Given the description of an element on the screen output the (x, y) to click on. 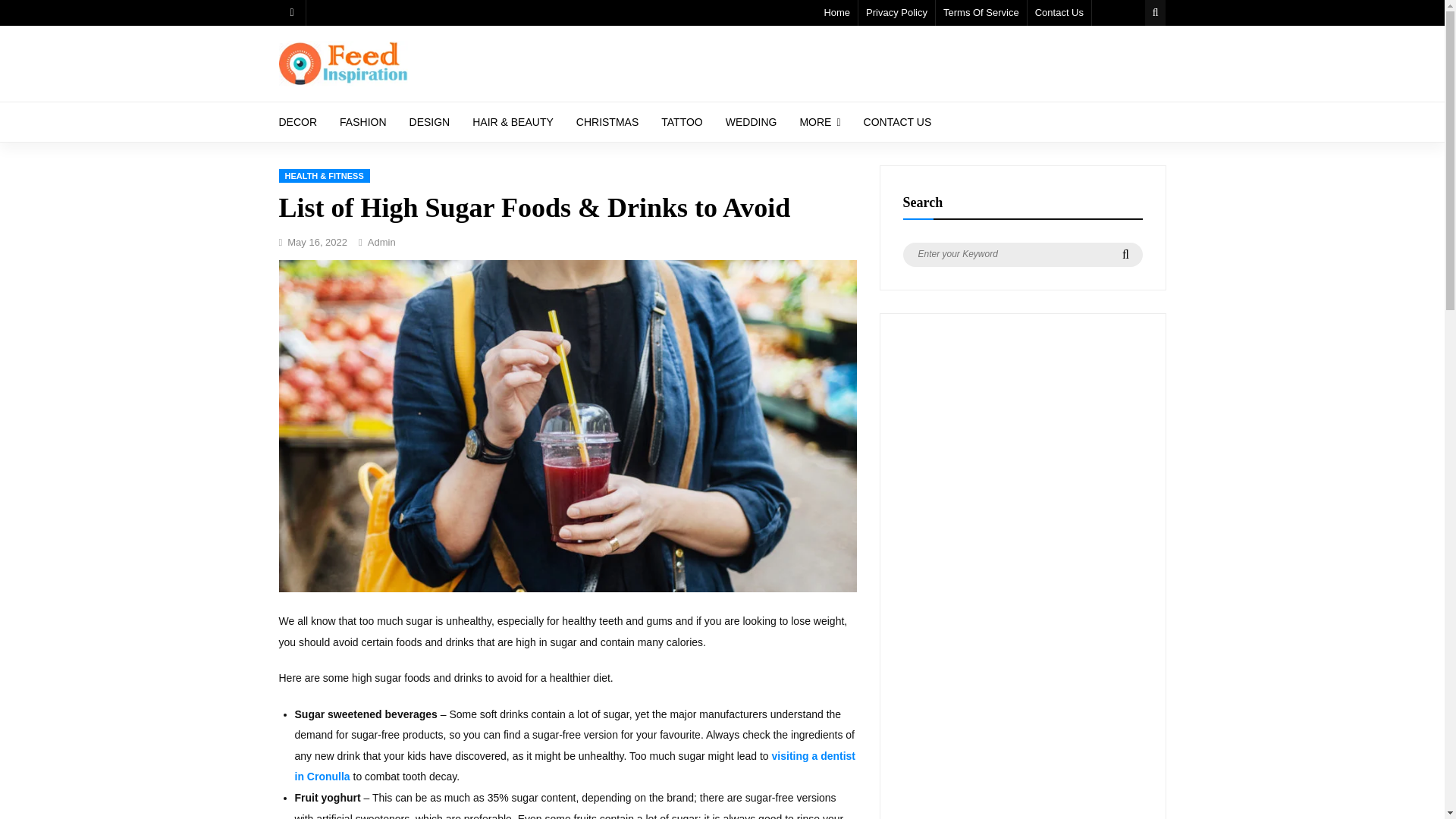
Privacy Policy (897, 12)
Contact Us (1059, 12)
WEDDING (751, 121)
Pinterest (292, 12)
TATTOO (681, 121)
DECOR (297, 121)
DESIGN (429, 121)
CONTACT US (897, 121)
May 16, 2022 (316, 242)
Home (837, 12)
